Given the description of an element on the screen output the (x, y) to click on. 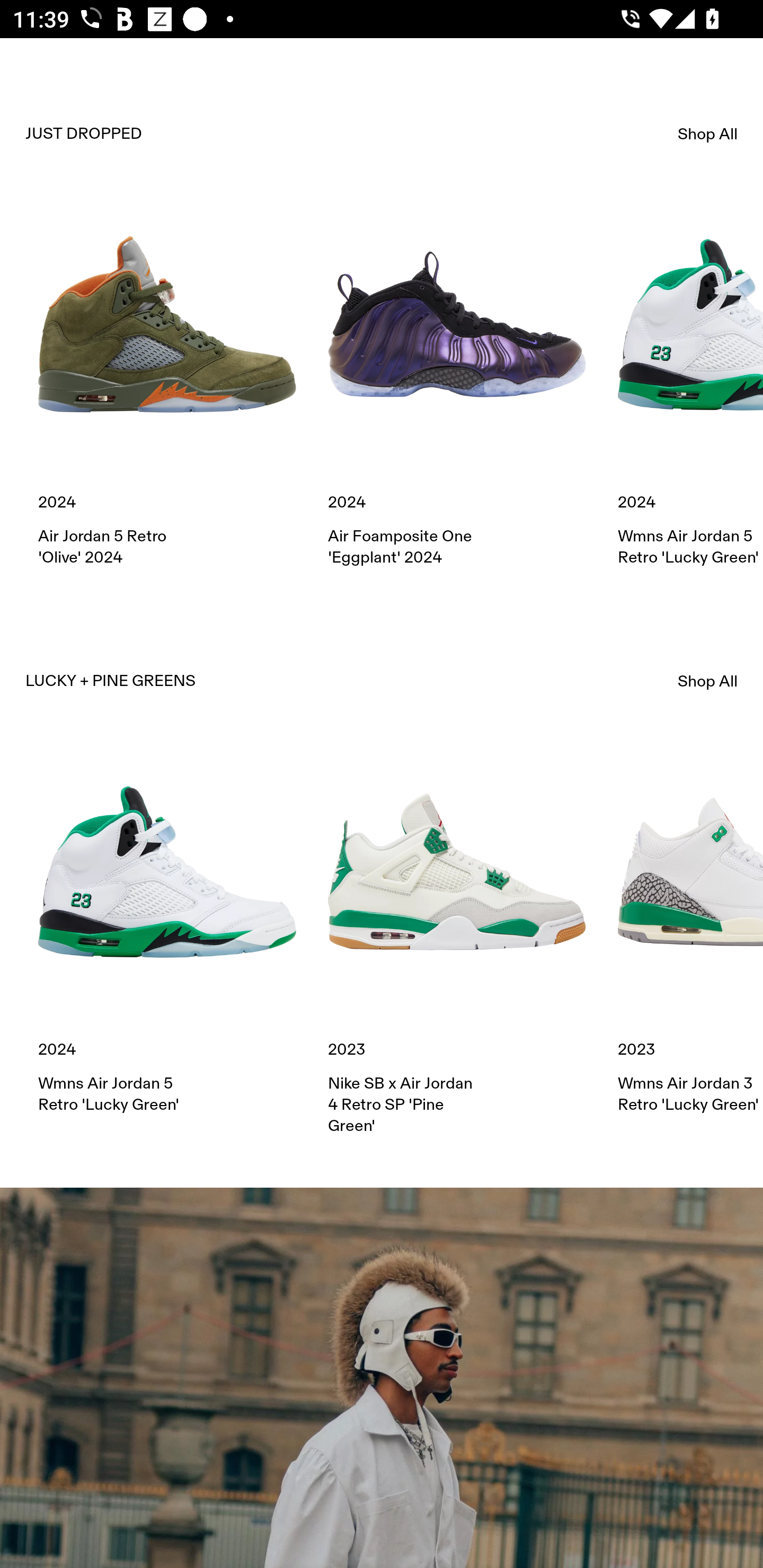
Shop All (707, 133)
2024 Air Jordan 5 Retro 'Olive' 2024 (167, 381)
2024 Air Foamposite One 'Eggplant' 2024 (456, 381)
2024 Wmns Air Jordan 5 Retro 'Lucky Green' (690, 381)
Shop All (707, 680)
2024 Wmns Air Jordan 5 Retro 'Lucky Green' (167, 928)
2023 Nike SB x Air Jordan 4 Retro SP 'Pine Green' (456, 939)
2023 Wmns Air Jordan 3 Retro 'Lucky Green' (690, 928)
